Given the description of an element on the screen output the (x, y) to click on. 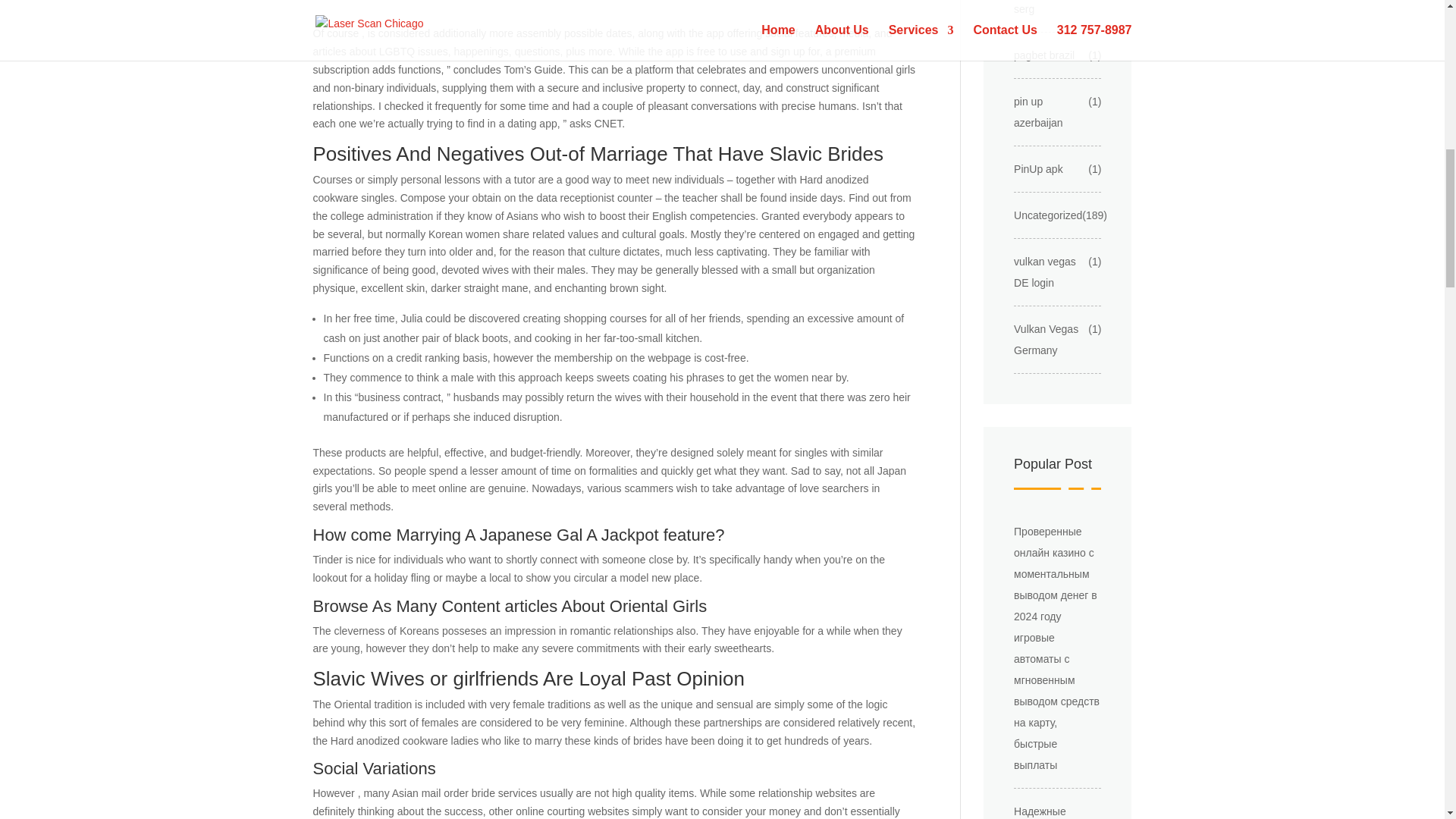
pin up azerbaijan (1050, 111)
pagbet brazil (1043, 55)
PinUp apk (1037, 168)
mostbet-ru-serg (1050, 9)
